Given the description of an element on the screen output the (x, y) to click on. 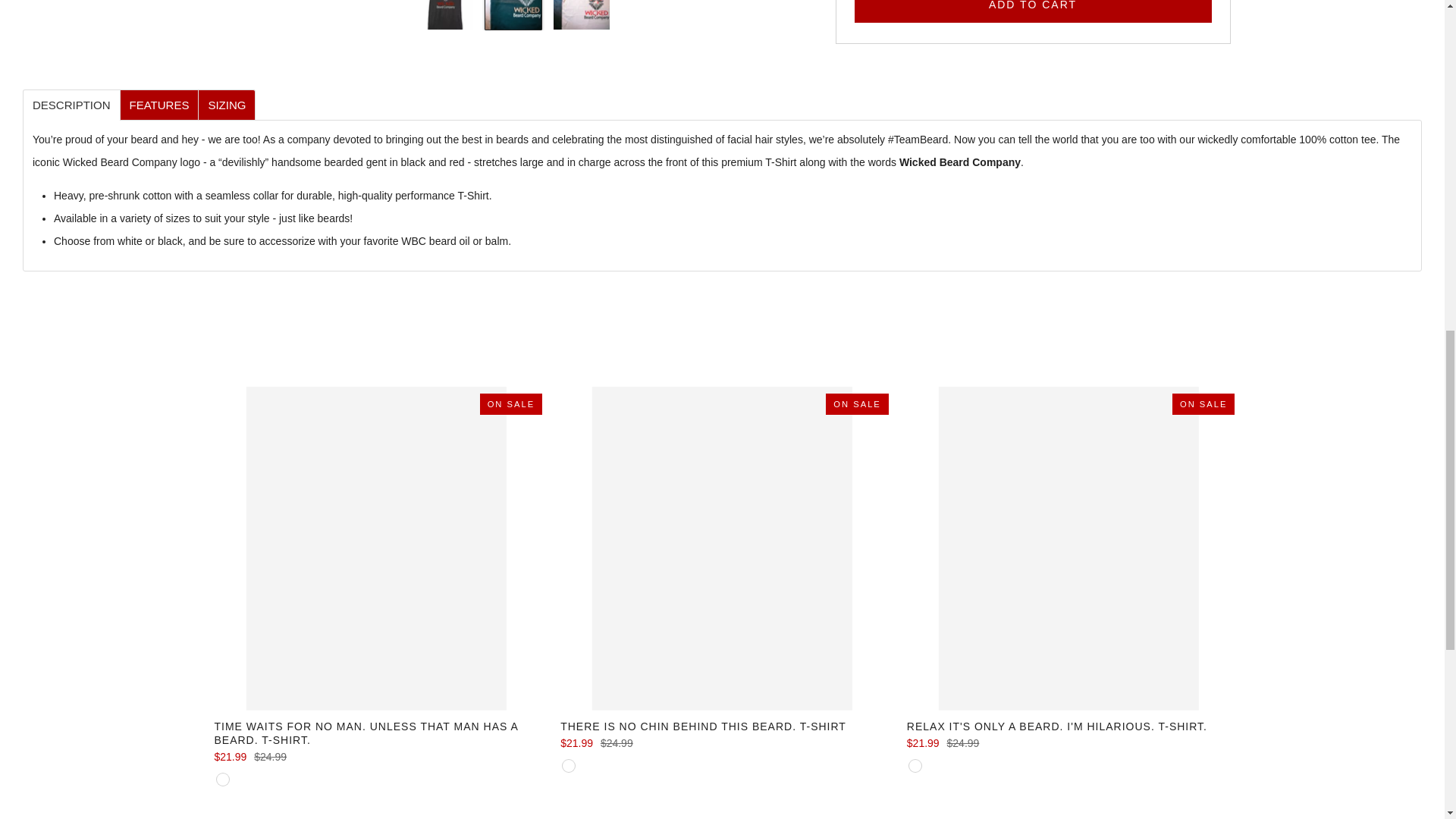
There is No Chin Behind This Beard. T-Shirt (721, 742)
There is No Chin Behind This Beard. T-Shirt (721, 726)
Time Waits for No Man. Unless That Man Has a Beard. T-Shirt. (375, 732)
Relax it's Only a Beard. I'm hilarious. T-Shirt. (1068, 726)
Relax it's Only a Beard. I'm hilarious. T-Shirt. (1068, 742)
Time Waits for No Man. Unless That Man Has a Beard. T-Shirt. (375, 756)
